Given the description of an element on the screen output the (x, y) to click on. 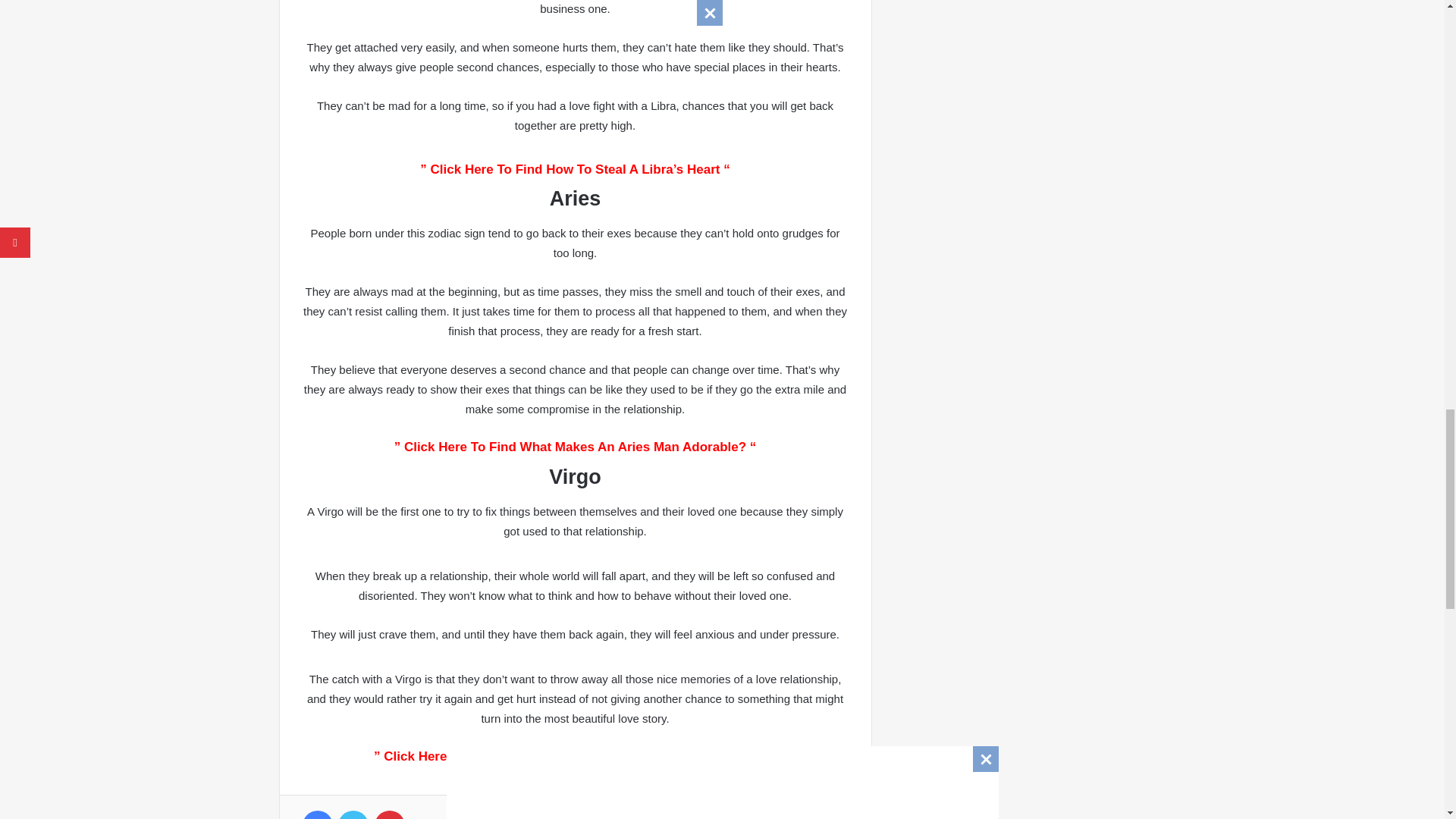
Pinterest (389, 814)
Twitter (352, 814)
Facebook (316, 814)
